Given the description of an element on the screen output the (x, y) to click on. 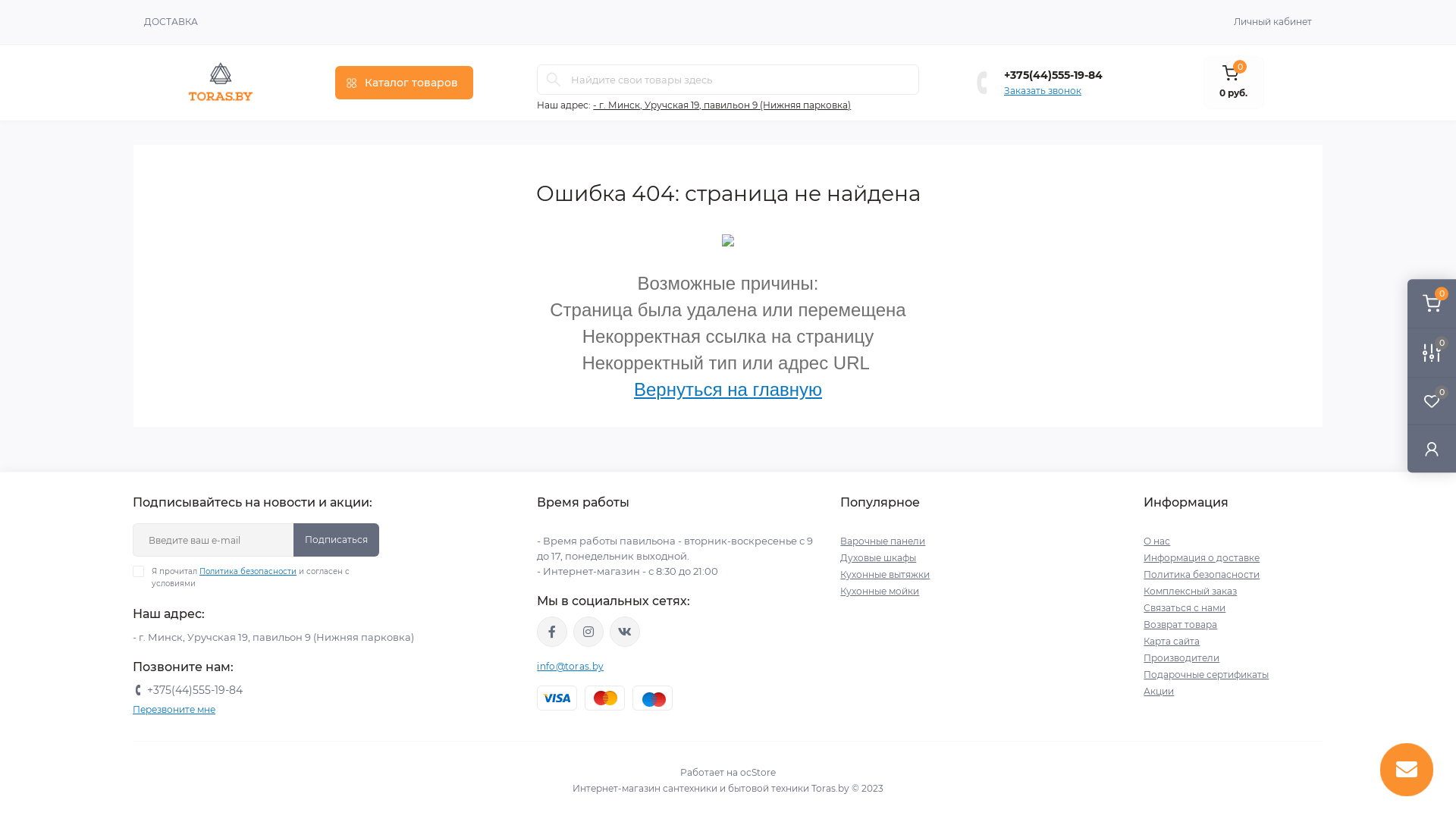
https://www.instagram.com/toras.by/ Element type: text (588, 631)
ocStore Element type: text (757, 772)
+375(44)555-19-84 Element type: text (194, 689)
+375(44)555-19-84 Element type: text (1053, 73)
info@toras.by Element type: text (569, 665)
